Given the description of an element on the screen output the (x, y) to click on. 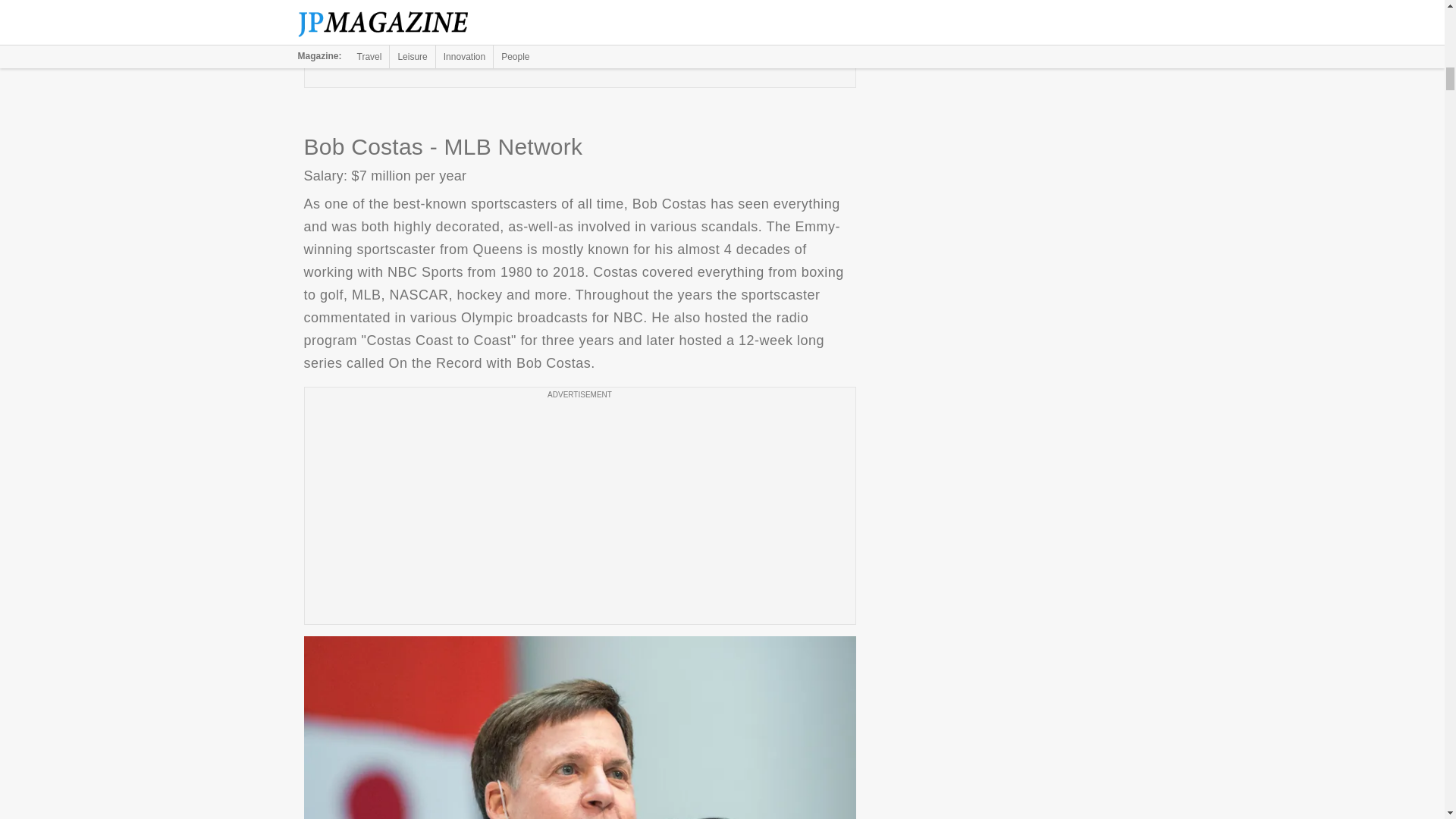
Bob Costas - MLB Network (579, 727)
